Given the description of an element on the screen output the (x, y) to click on. 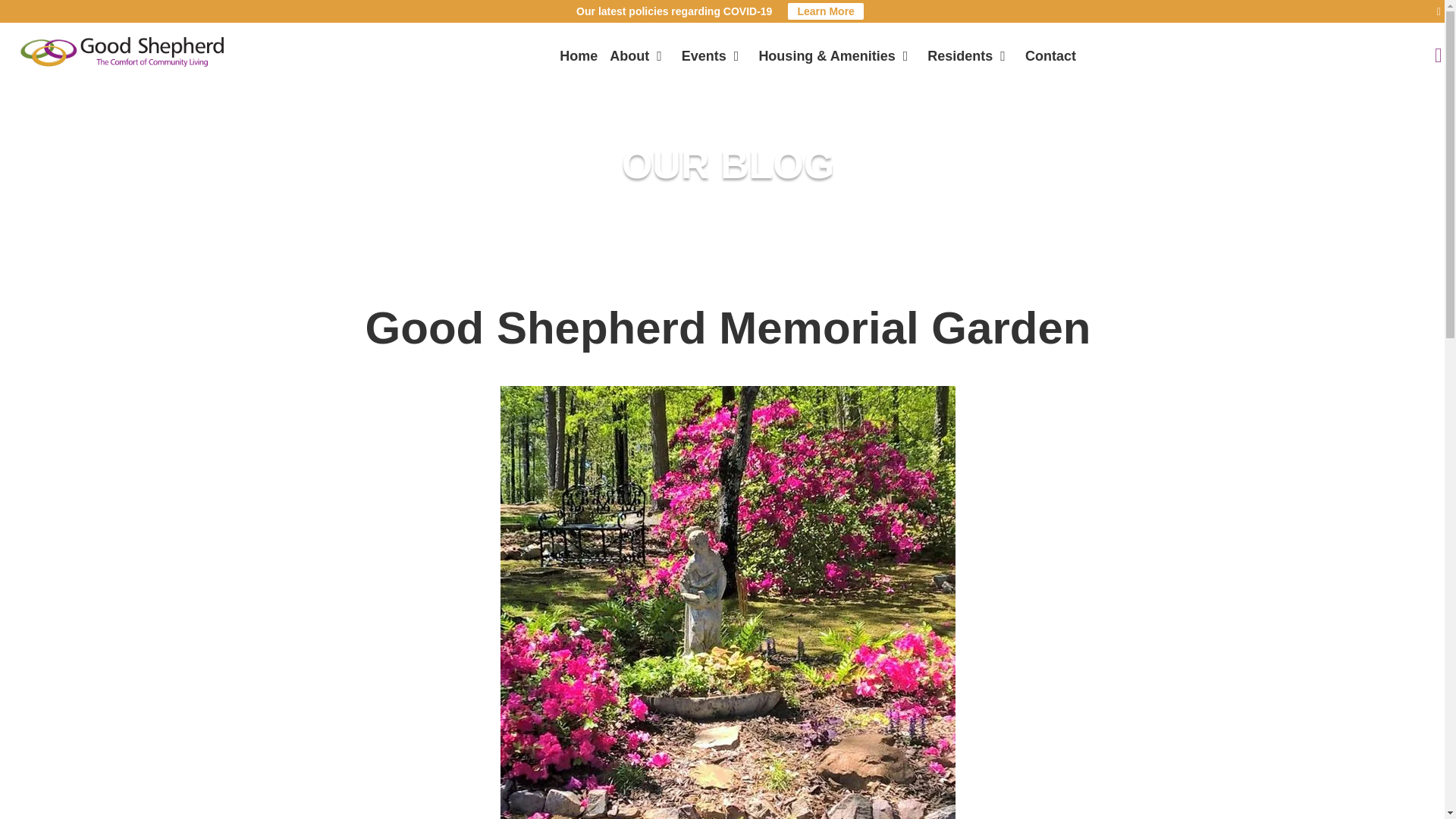
Contact (1050, 55)
About (635, 55)
Residents (966, 55)
Events (710, 55)
Learn More (825, 11)
Home (578, 55)
